Given the description of an element on the screen output the (x, y) to click on. 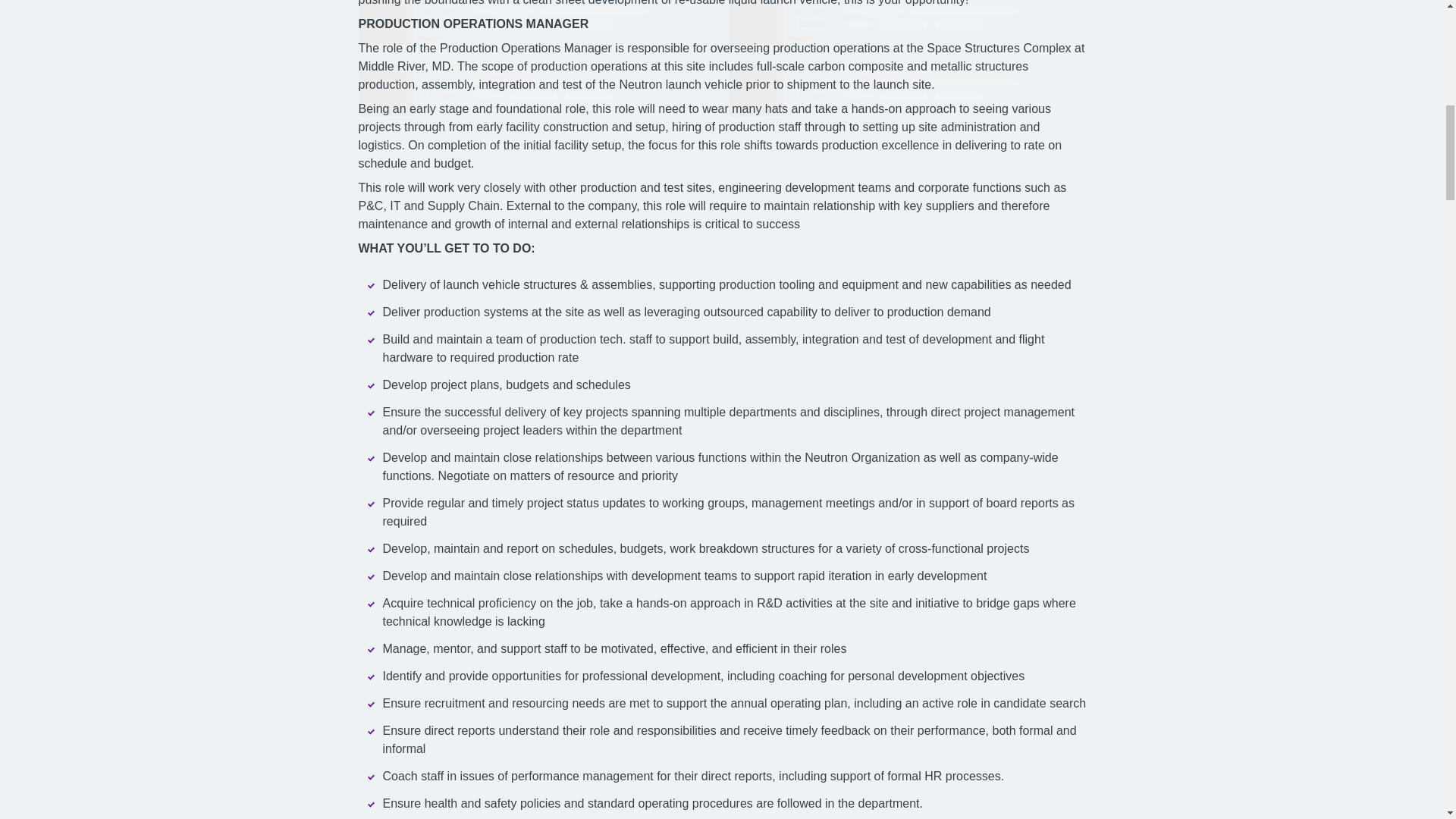
Loading interface... (907, 22)
Loading interface... (537, 22)
Loading interface... (537, 90)
Loading interface... (907, 90)
